Given the description of an element on the screen output the (x, y) to click on. 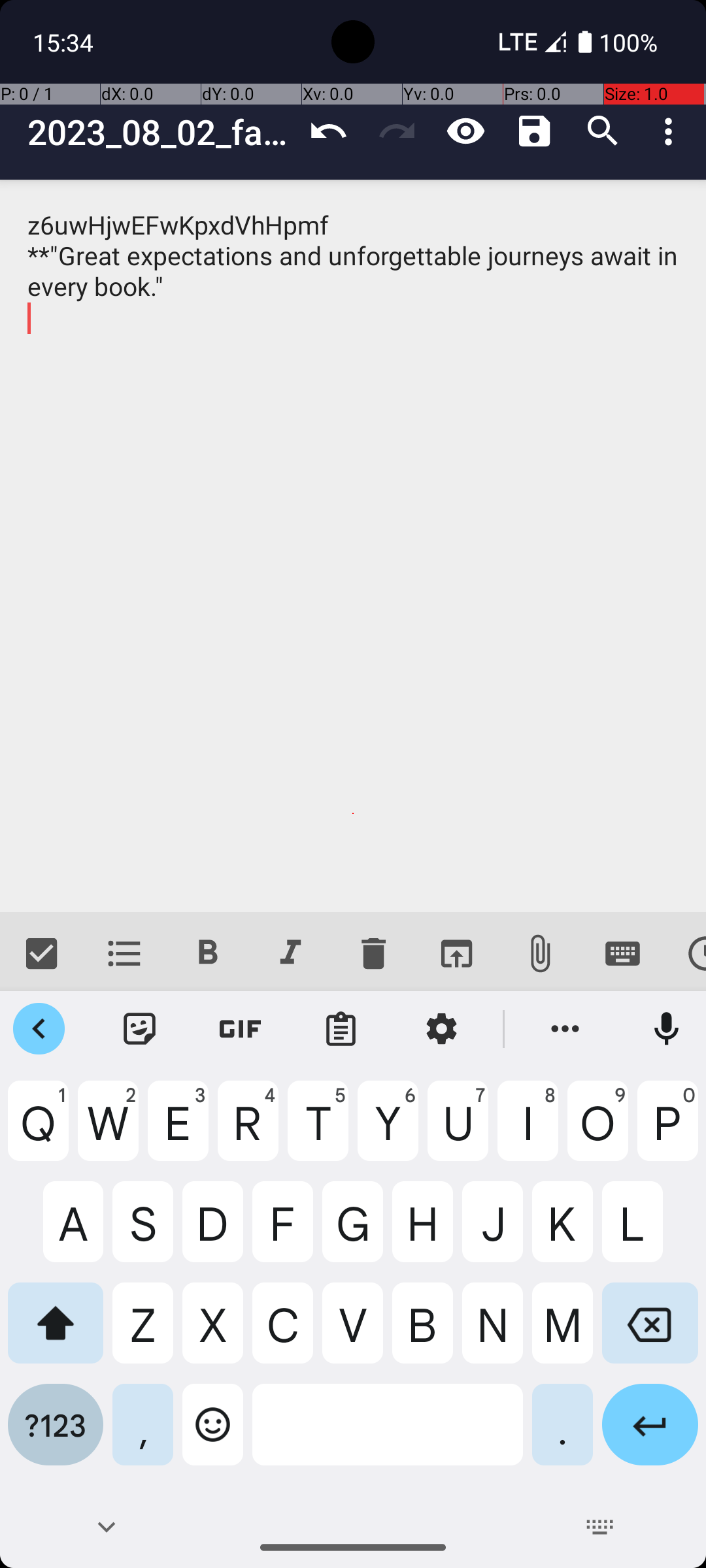
2023_08_02_favorite_book_quotes Element type: android.widget.TextView (160, 131)
z6uwHjwEFwKpxdVhHpmf
**"Great expectations and unforgettable journeys await in every book."
 Element type: android.widget.EditText (353, 545)
